Given the description of an element on the screen output the (x, y) to click on. 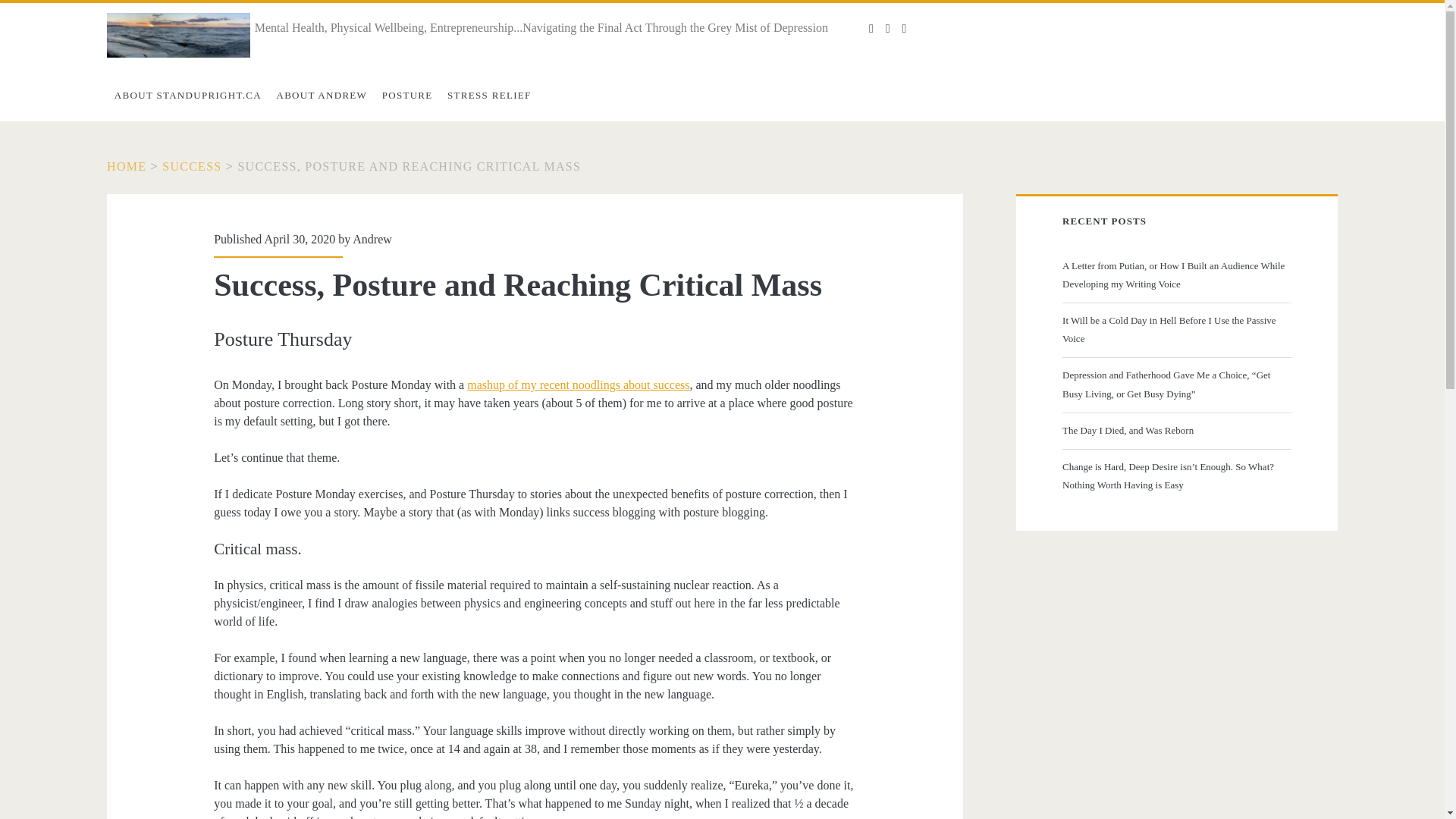
ABOUT ANDREW (321, 95)
Home (126, 165)
mashup of my recent noodlings about success (577, 384)
The Day I Died, and Was Reborn (1174, 430)
STRESS RELIEF (488, 95)
It Will be a Cold Day in Hell Before I Use the Passive Voice (1174, 330)
ABOUT STANDUPRIGHT.CA (187, 95)
POSTURE (406, 95)
SUCCESS (191, 165)
